Given the description of an element on the screen output the (x, y) to click on. 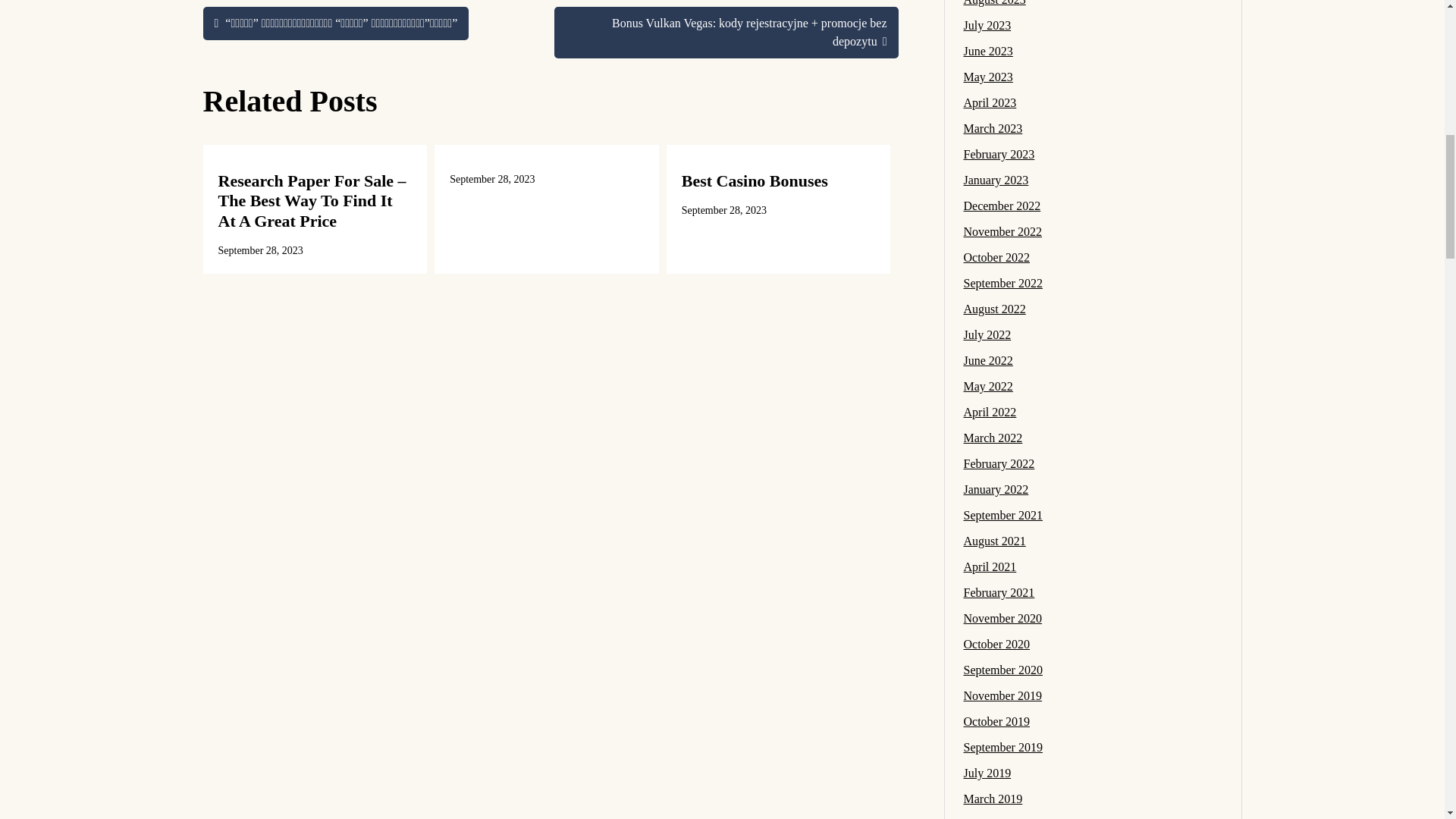
September 28, 2023 (260, 250)
August 2023 (993, 2)
September 28, 2023 (491, 179)
July 2023 (986, 24)
September 28, 2023 (724, 210)
Best Casino Bonuses (754, 180)
